Given the description of an element on the screen output the (x, y) to click on. 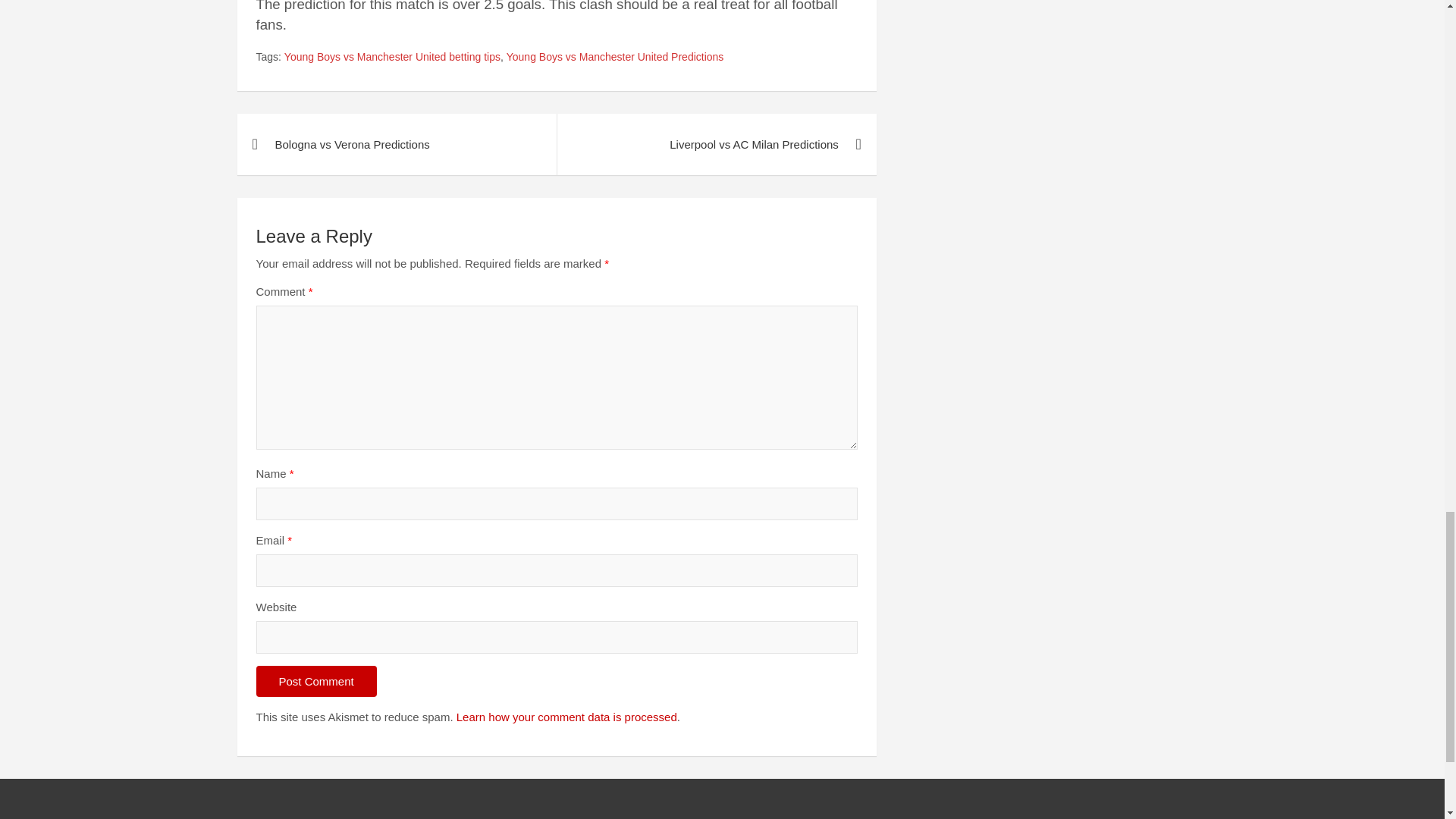
Young Boys vs Manchester United Predictions (614, 57)
Learn how your comment data is processed (567, 716)
Bologna vs Verona Predictions (395, 144)
Post Comment (316, 680)
Post Comment (316, 680)
Privacy Policy (139, 818)
Liverpool vs AC Milan Predictions (716, 144)
Young Boys vs Manchester United betting tips (391, 57)
